Given the description of an element on the screen output the (x, y) to click on. 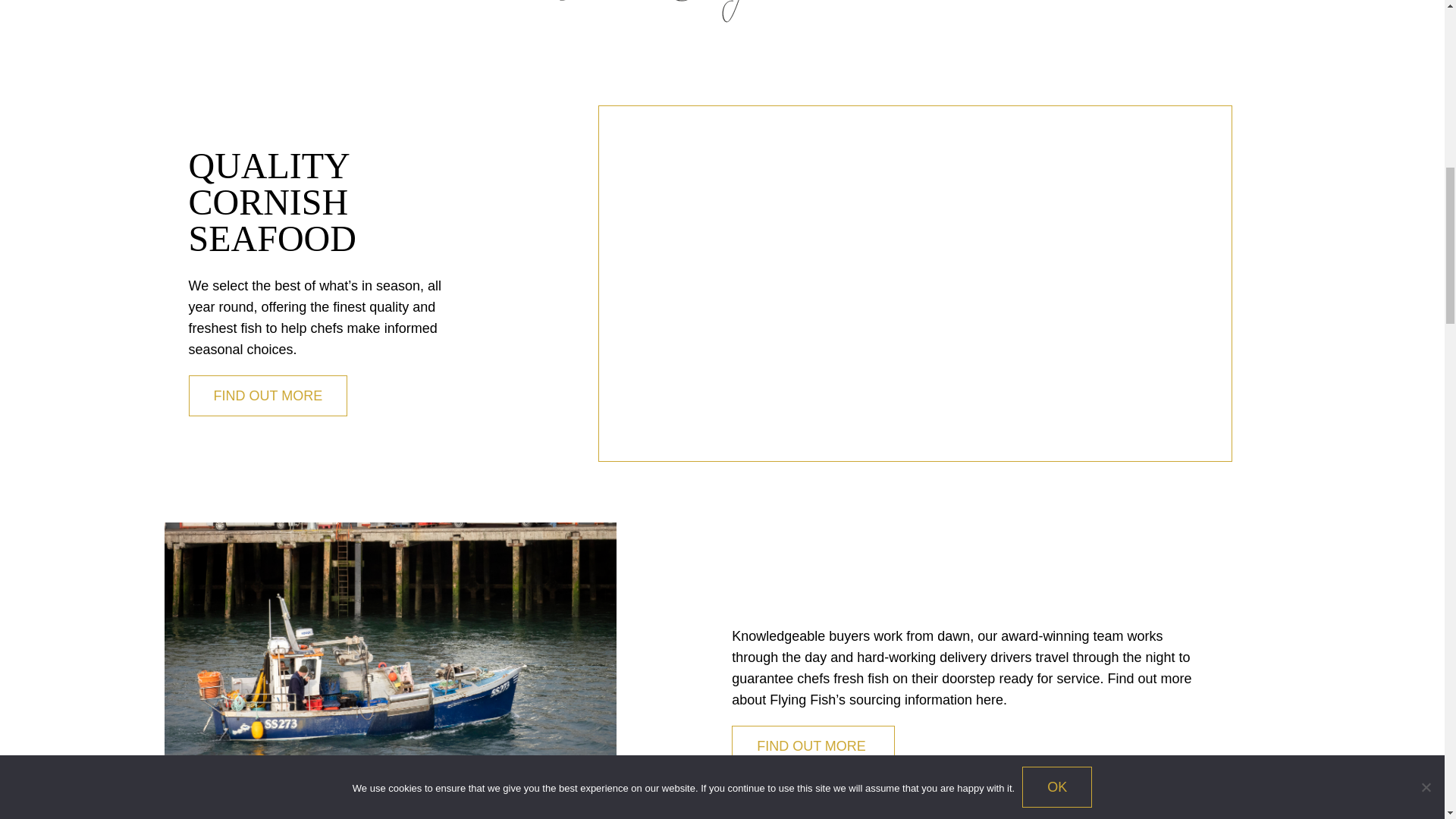
FIND OUT MORE  (813, 745)
FIND OUT MORE (267, 395)
